Given the description of an element on the screen output the (x, y) to click on. 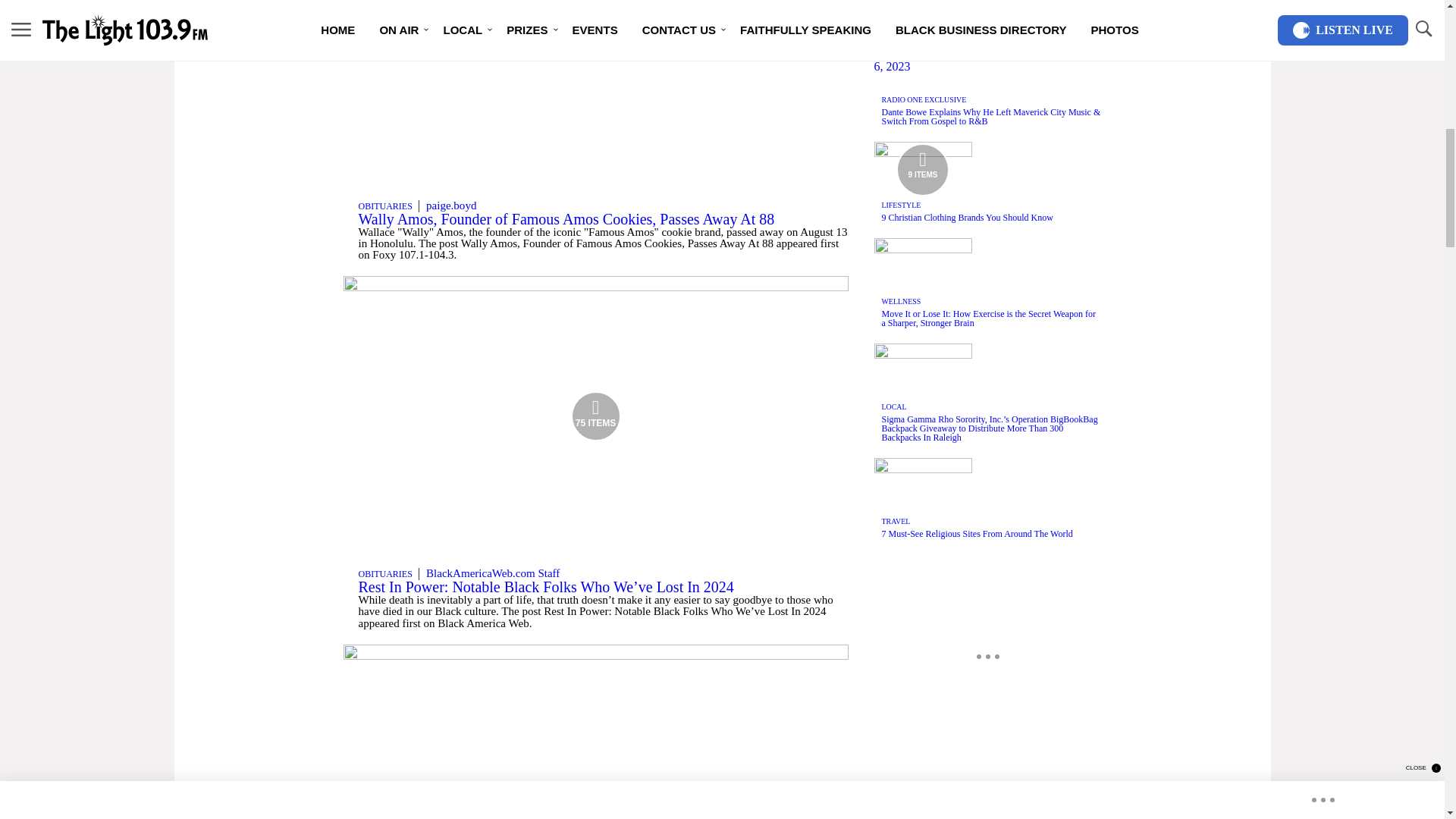
BlackAmericaWeb.com Staff (492, 573)
Media Playlist (596, 416)
OBITUARIES (385, 573)
75 ITEMS (594, 286)
OBITUARIES (385, 205)
Media Playlist (922, 168)
paige.boyd (451, 205)
